Given the description of an element on the screen output the (x, y) to click on. 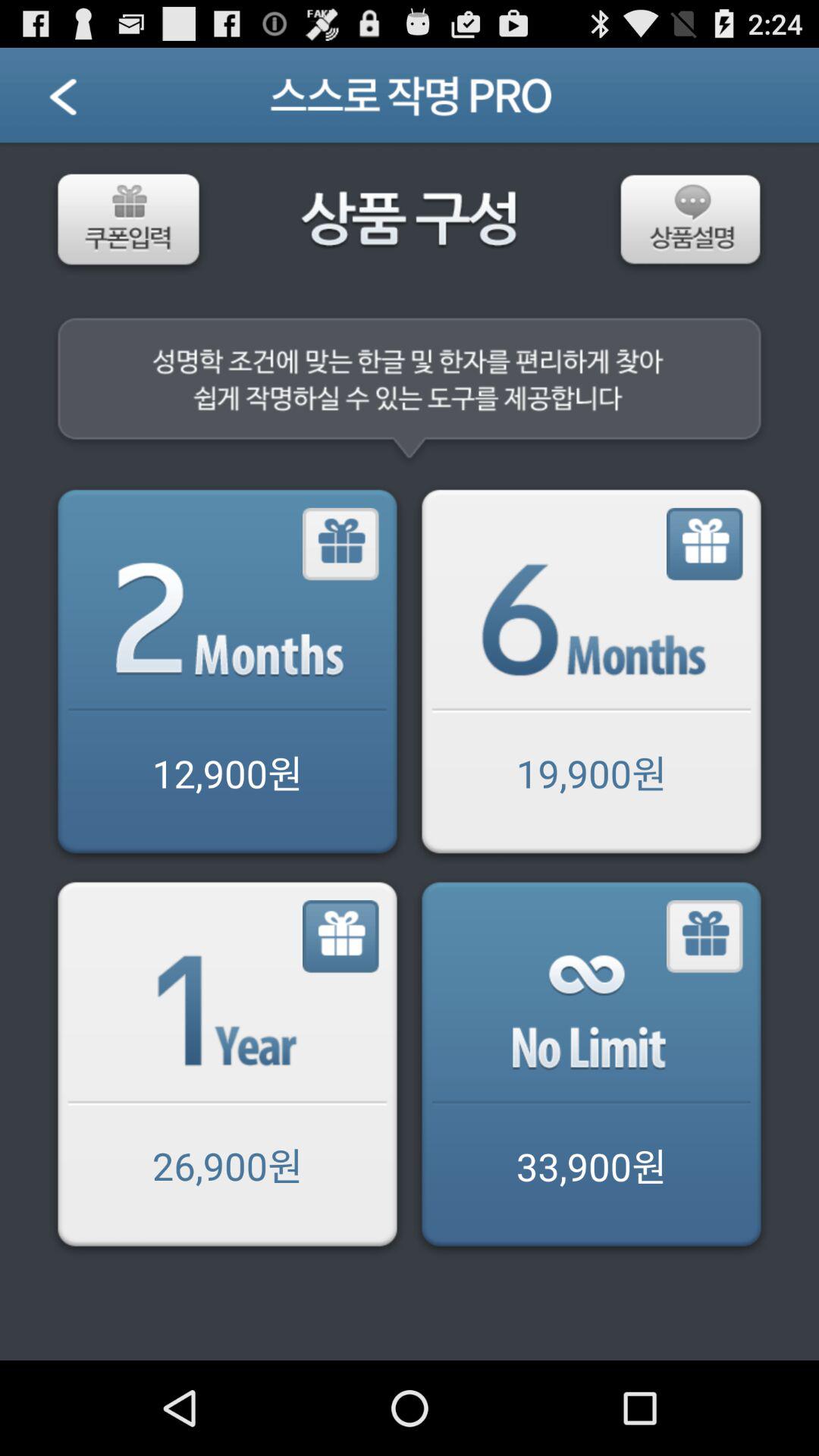
gift 2 months of service (340, 544)
